Given the description of an element on the screen output the (x, y) to click on. 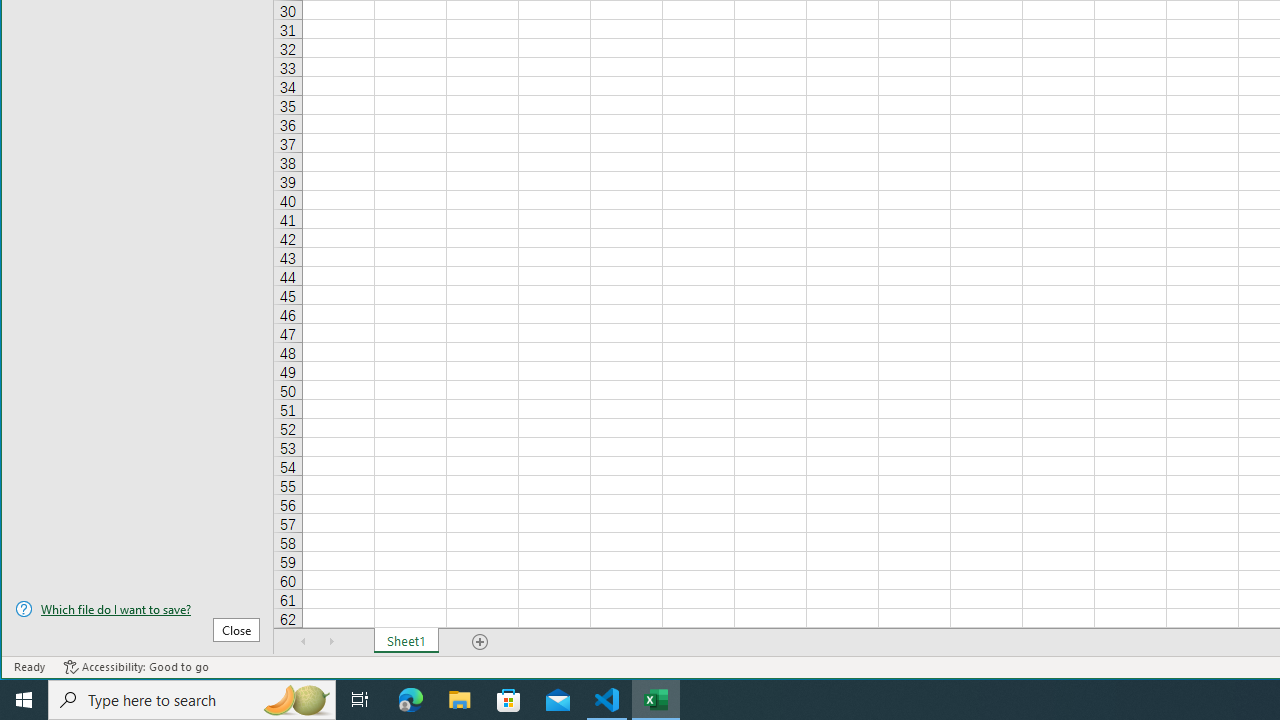
Microsoft Edge (411, 699)
Start (24, 699)
Search highlights icon opens search home window (295, 699)
Type here to search (191, 699)
Microsoft Store (509, 699)
Excel - 1 running window (656, 699)
Visual Studio Code - 1 running window (607, 699)
Task View (359, 699)
